Given the description of an element on the screen output the (x, y) to click on. 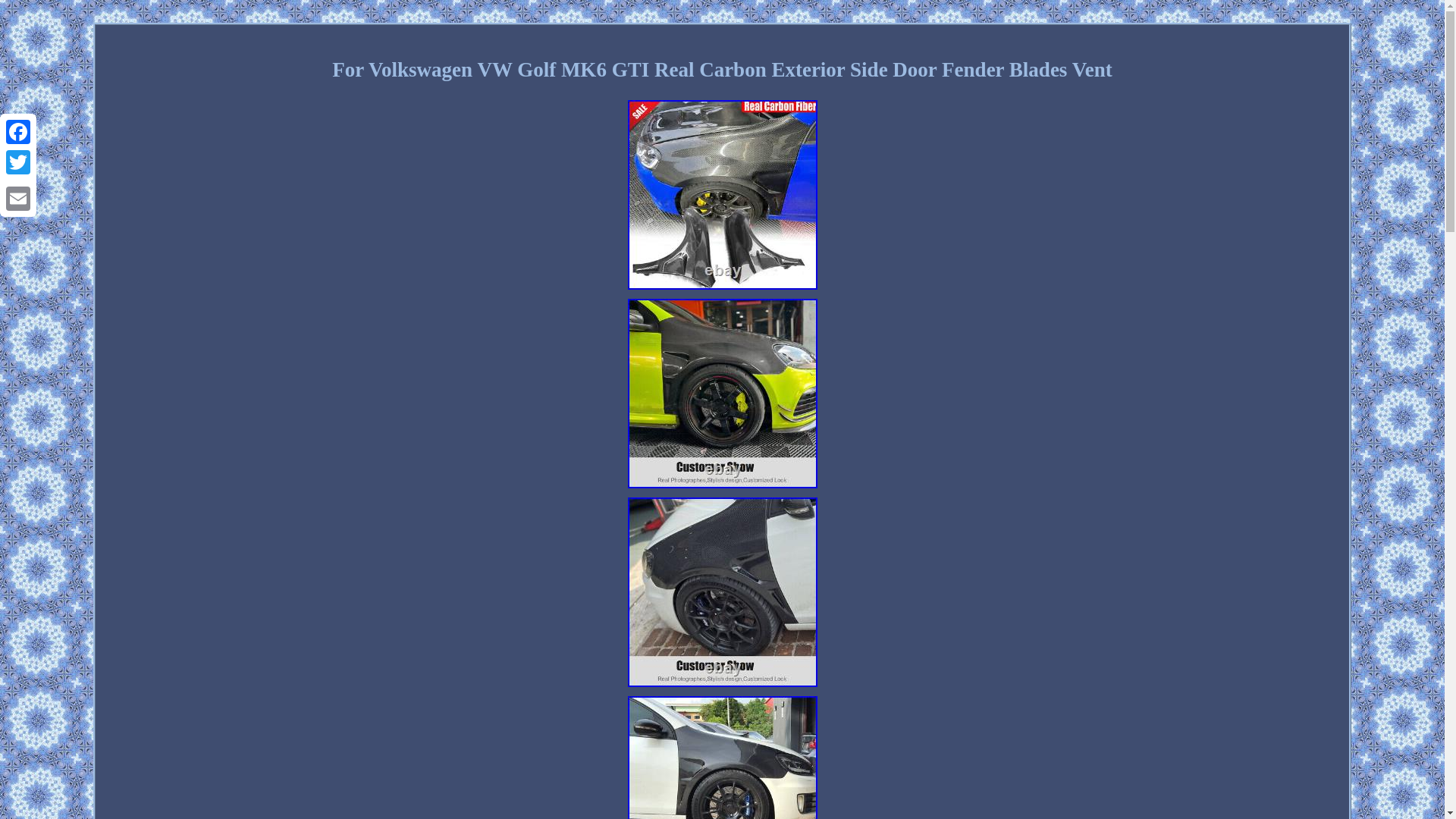
Email (17, 198)
Twitter (17, 162)
Facebook (17, 132)
